Given the description of an element on the screen output the (x, y) to click on. 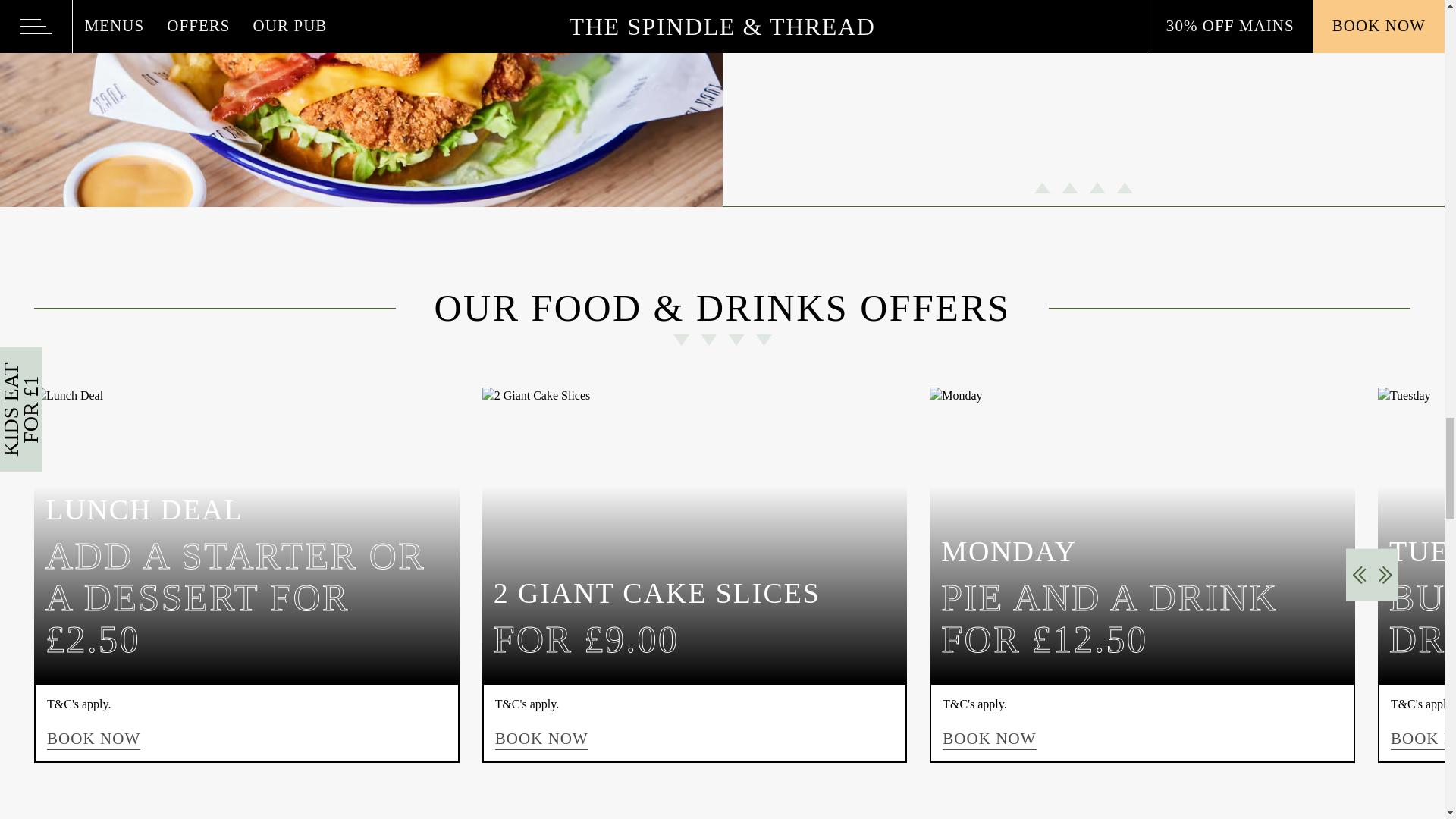
BOOK NOW (92, 739)
BOOK NOW (988, 739)
BOOK NOW (541, 739)
